Given the description of an element on the screen output the (x, y) to click on. 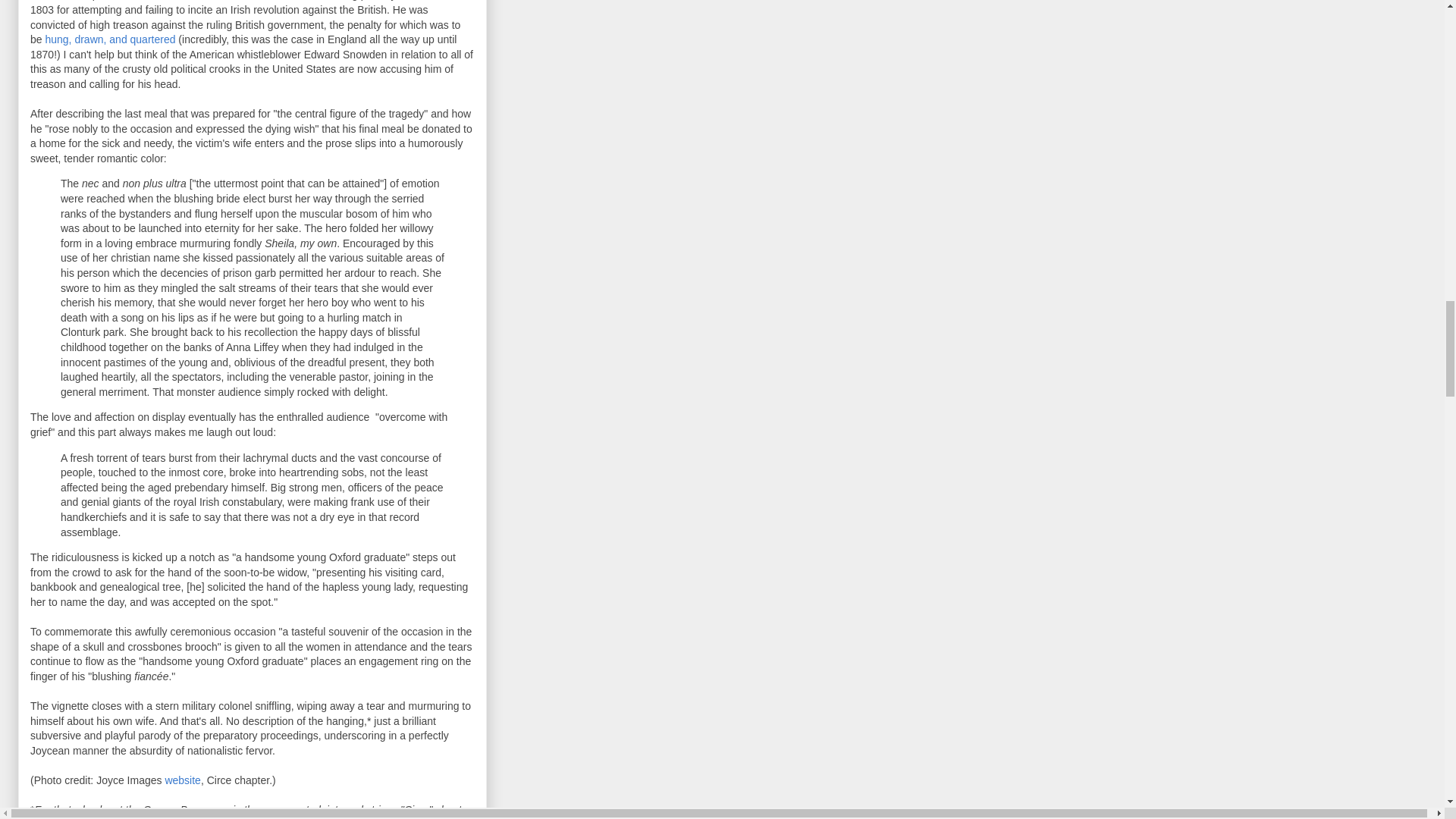
website (182, 779)
hung, drawn, and quartered (109, 39)
Robert Emmet (294, 0)
